Given the description of an element on the screen output the (x, y) to click on. 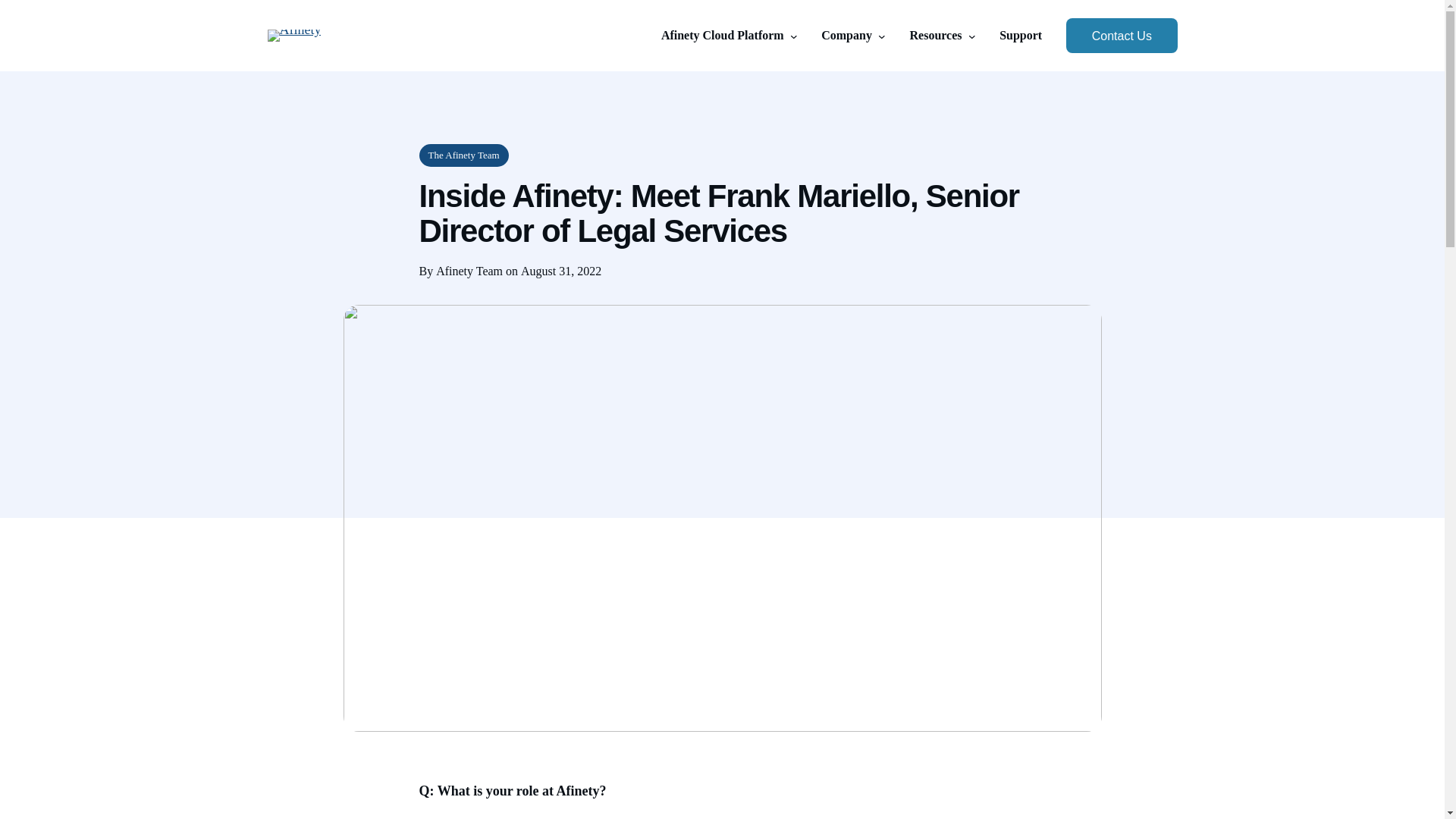
Contact Us (1120, 35)
Support (1020, 35)
The Afinety Team (463, 155)
Company (846, 35)
Resources (936, 35)
Afinety Cloud Platform (722, 35)
